Given the description of an element on the screen output the (x, y) to click on. 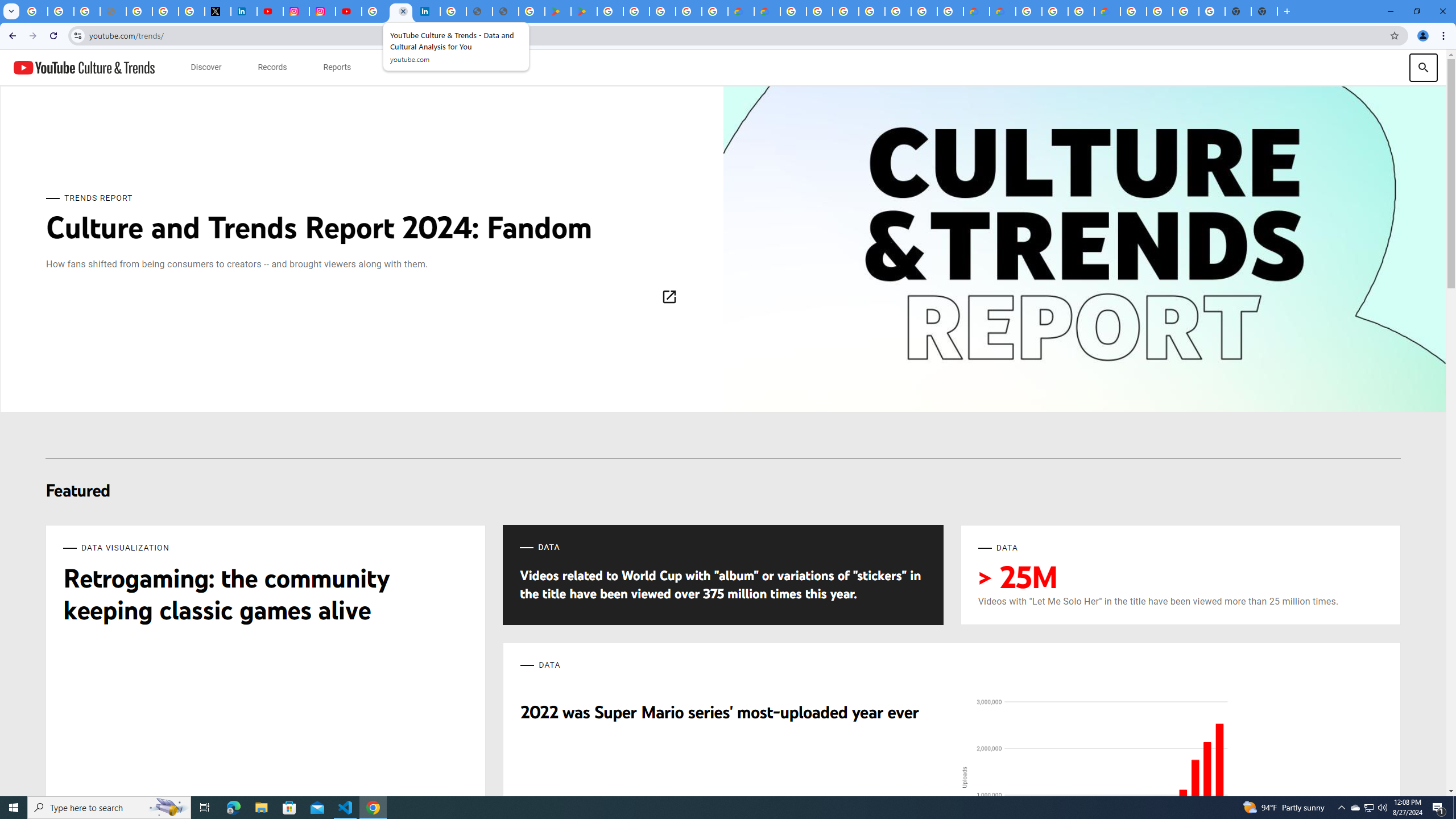
subnav-Reports menupopup (336, 67)
User Details (505, 11)
